Given the description of an element on the screen output the (x, y) to click on. 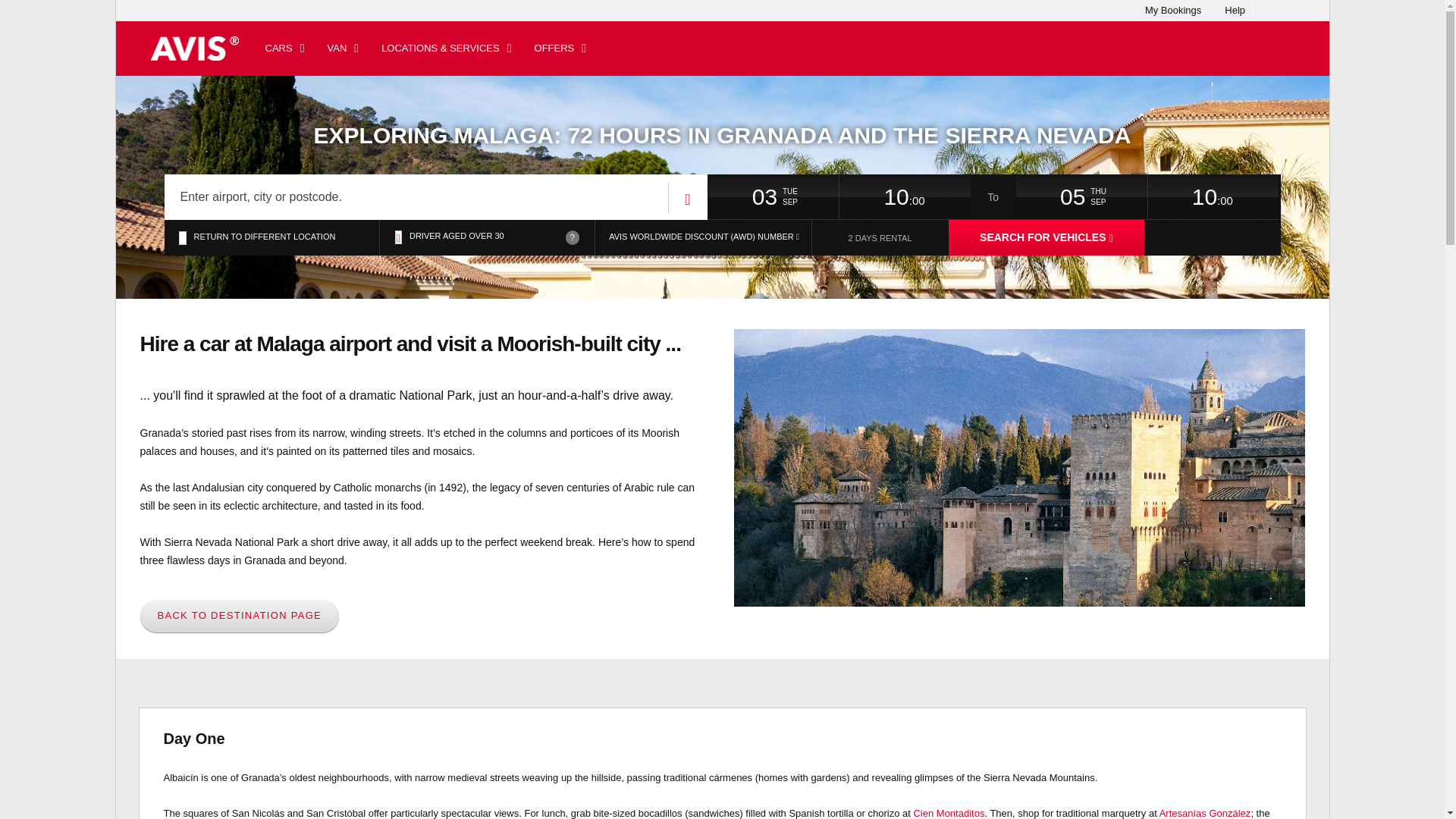
VAN (343, 48)
Tuesday (810, 191)
September (810, 202)
OFFERS (560, 48)
CARS (284, 48)
Thursday (1118, 191)
Help (1234, 10)
September (1118, 202)
My Bookings (1172, 10)
